Given the description of an element on the screen output the (x, y) to click on. 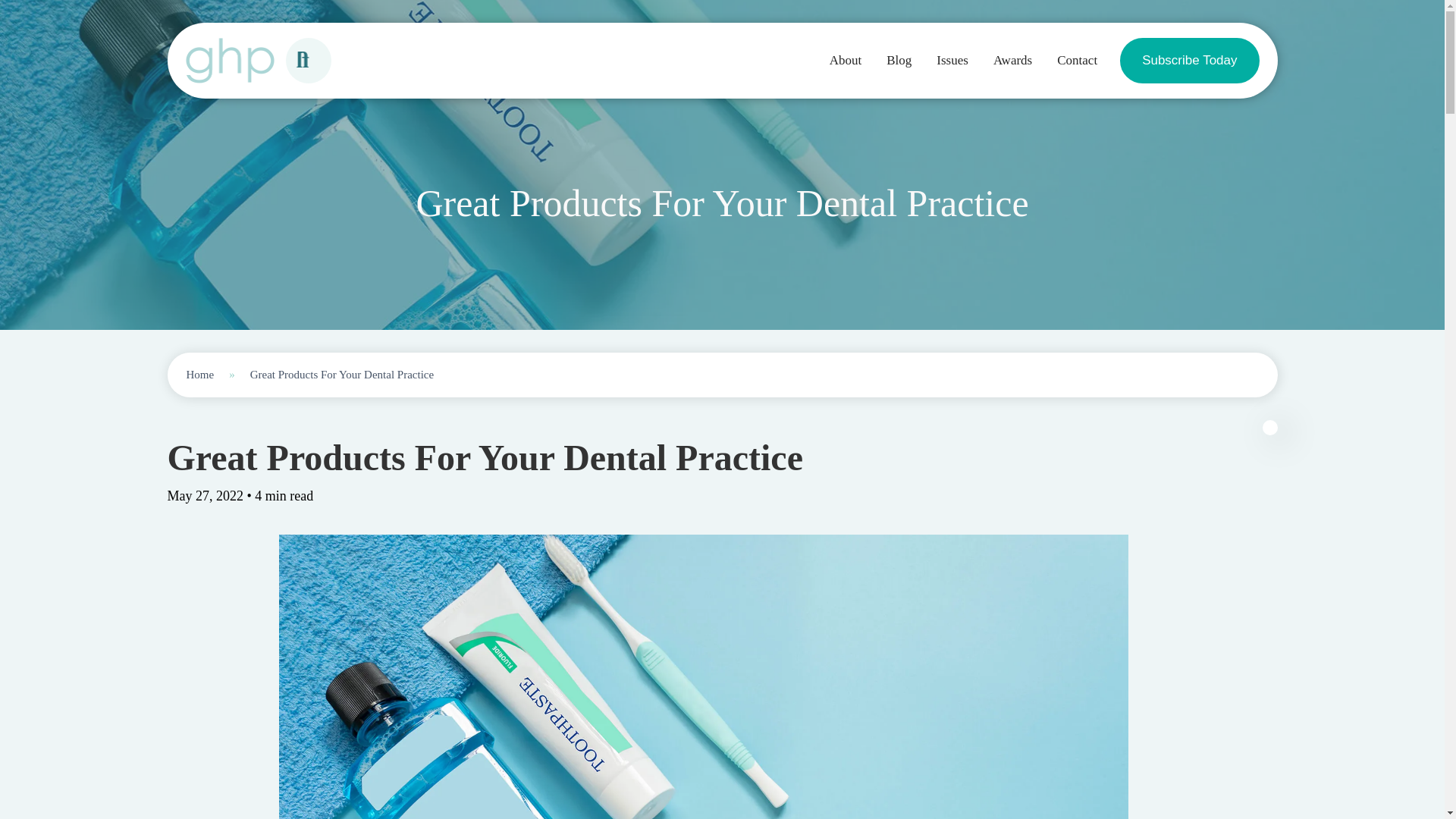
Subscribe Today (1189, 60)
